Given the description of an element on the screen output the (x, y) to click on. 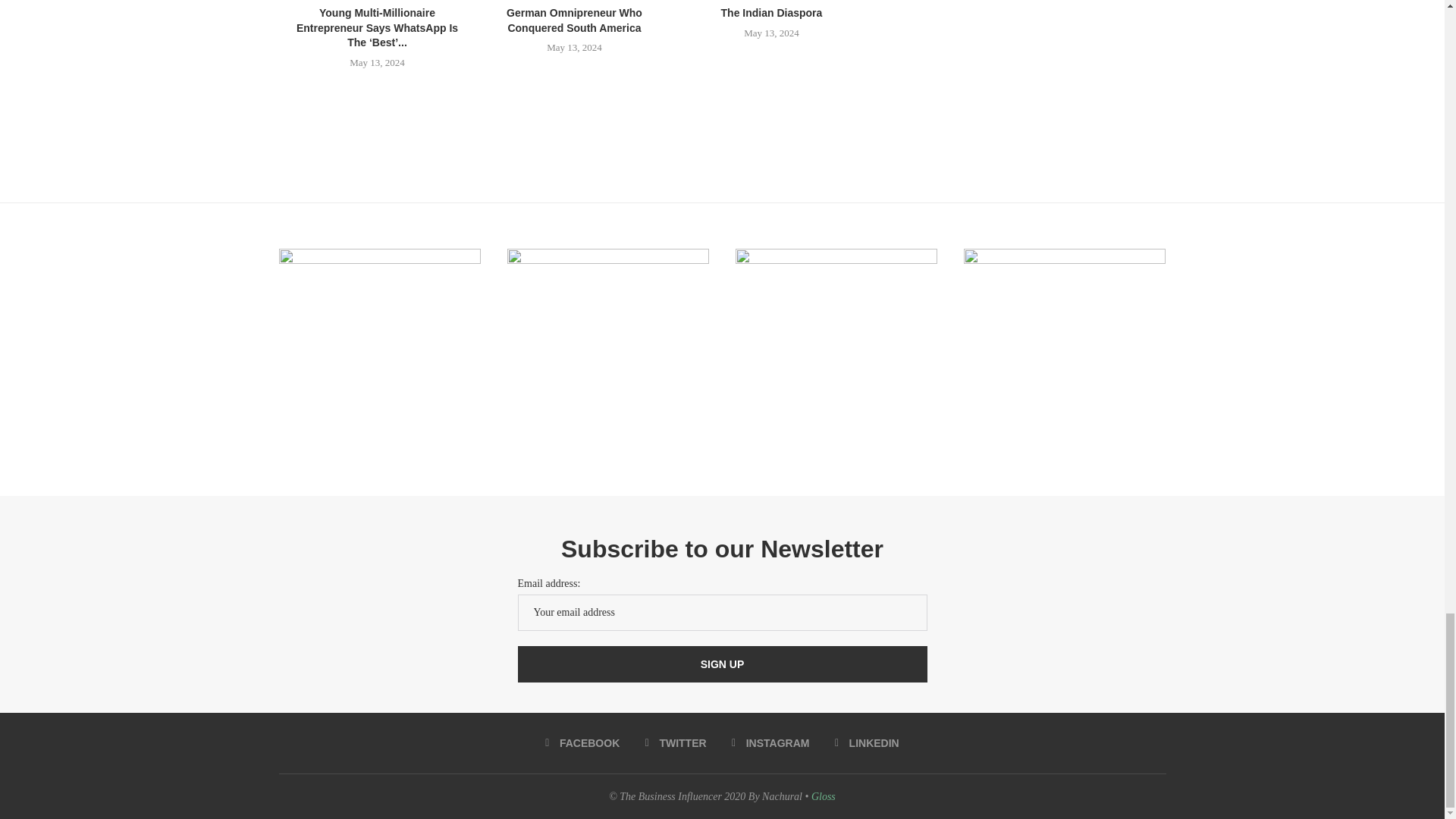
Sign up (721, 664)
